Given the description of an element on the screen output the (x, y) to click on. 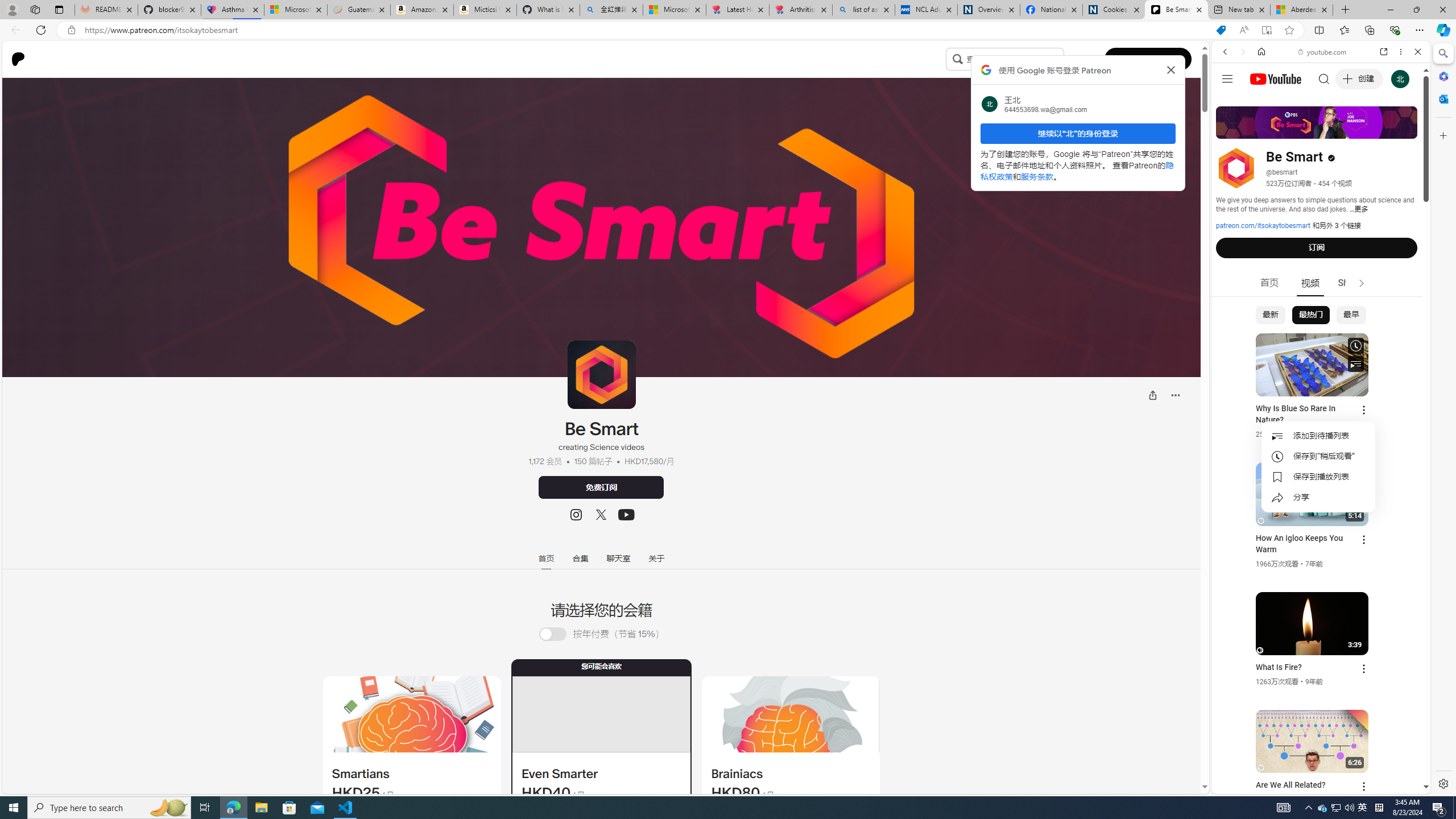
Class: dict_pnIcon rms_img (1312, 784)
Loading (552, 634)
Class: style-scope tp-yt-iron-icon (1361, 283)
Cookies | About | NICE (1113, 9)
